Given the description of an element on the screen output the (x, y) to click on. 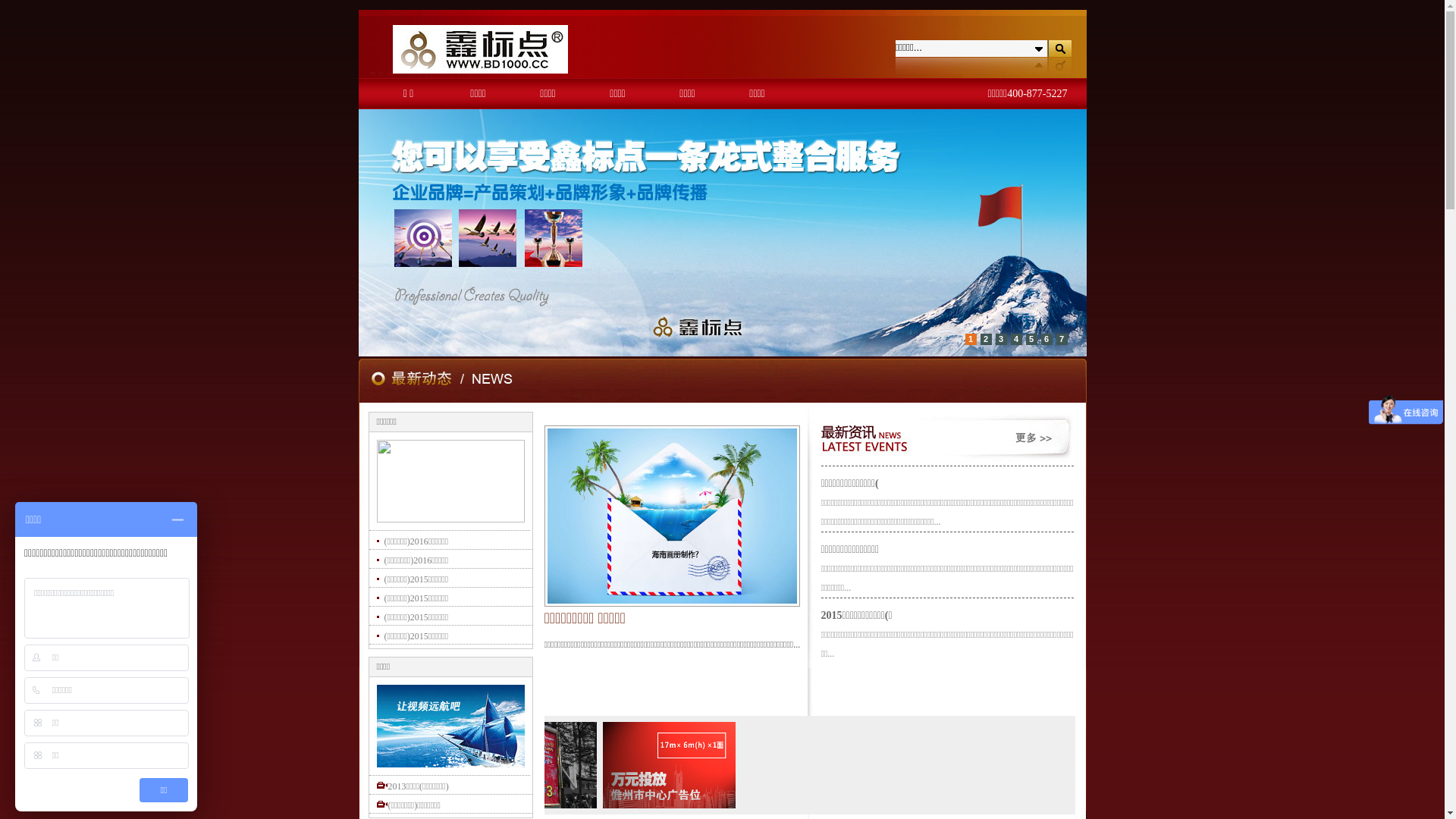
5 Element type: text (1030, 339)
4 Element type: text (1015, 339)
2 Element type: text (985, 339)
6 Element type: text (1045, 339)
7 Element type: text (1060, 339)
3 Element type: text (1000, 339)
1 Element type: text (969, 339)
